Given the description of an element on the screen output the (x, y) to click on. 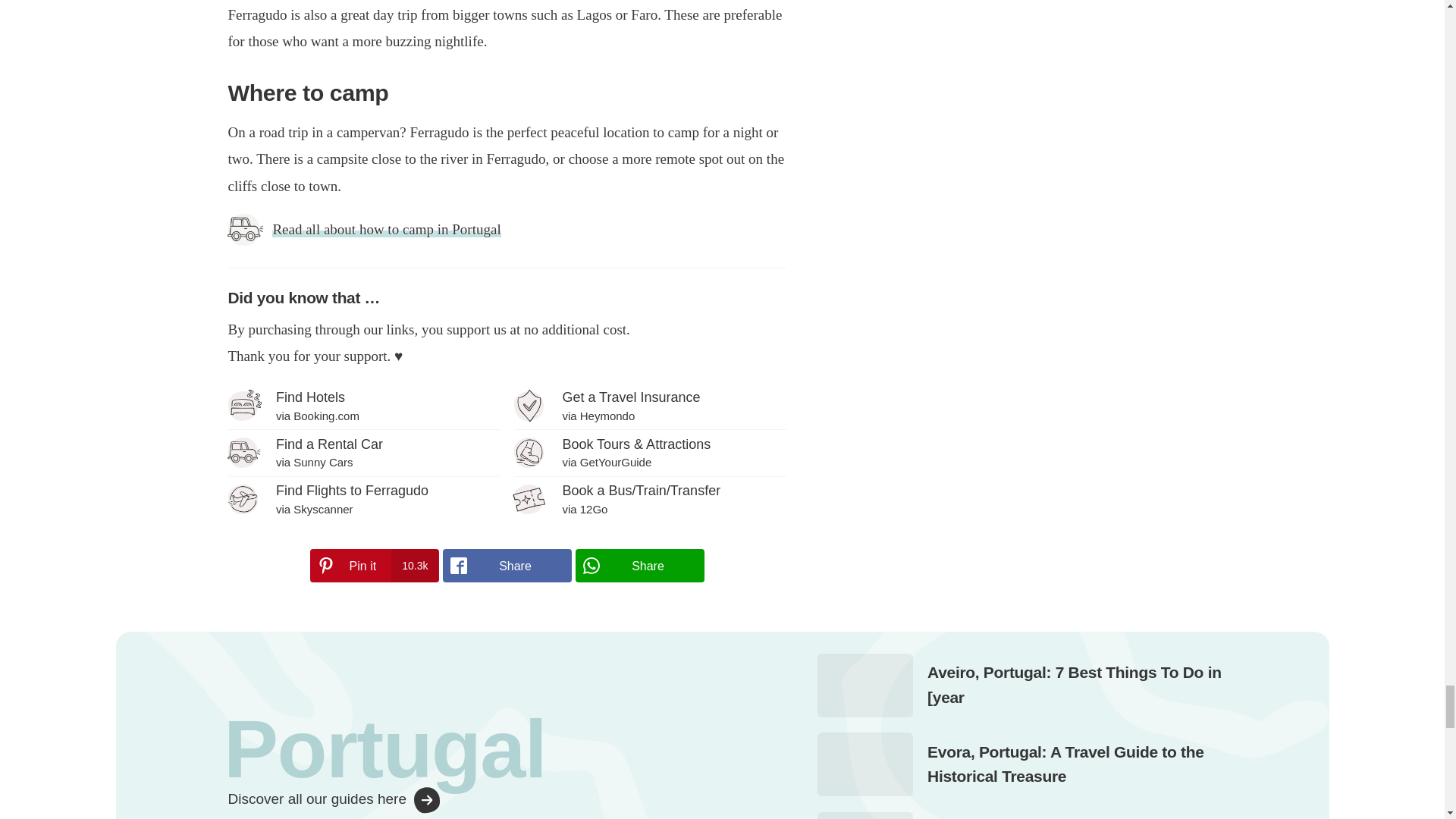
Find Cheap Flights (363, 498)
Share on Whatsapp (639, 565)
Share on Facebook (507, 565)
Book a Bus or Transfer (649, 498)
Find a rental car (363, 452)
Get a Travel Insurance (649, 406)
Find Hotels (363, 406)
